Given the description of an element on the screen output the (x, y) to click on. 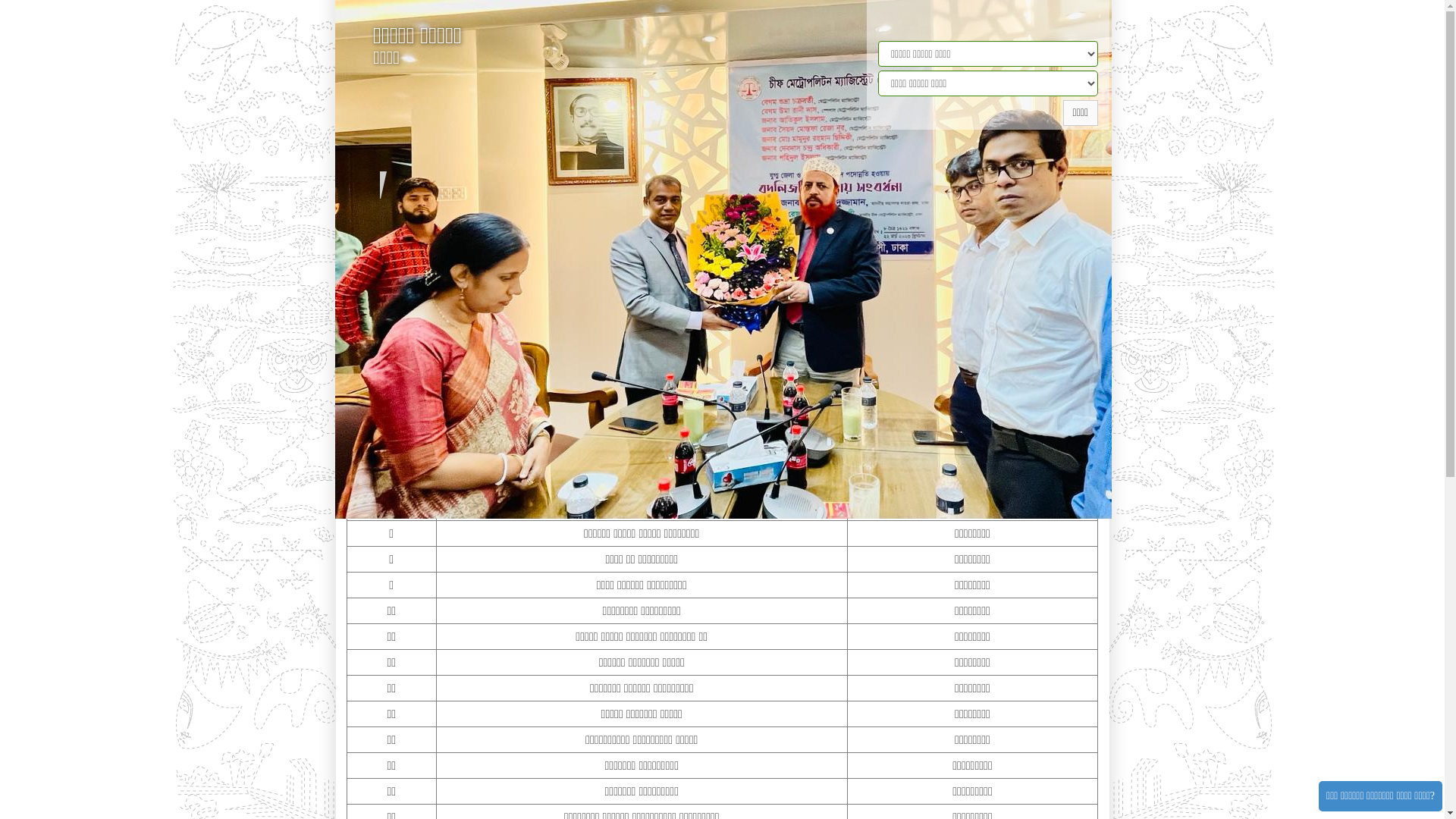
C Element type: text (490, 222)
Skip to main content Element type: text (0, 0)
C Element type: text (539, 222)
A Element type: text (396, 224)
A Element type: text (409, 223)
A Element type: text (423, 221)
C Element type: text (523, 222)
C Element type: text (506, 222)
